Given the description of an element on the screen output the (x, y) to click on. 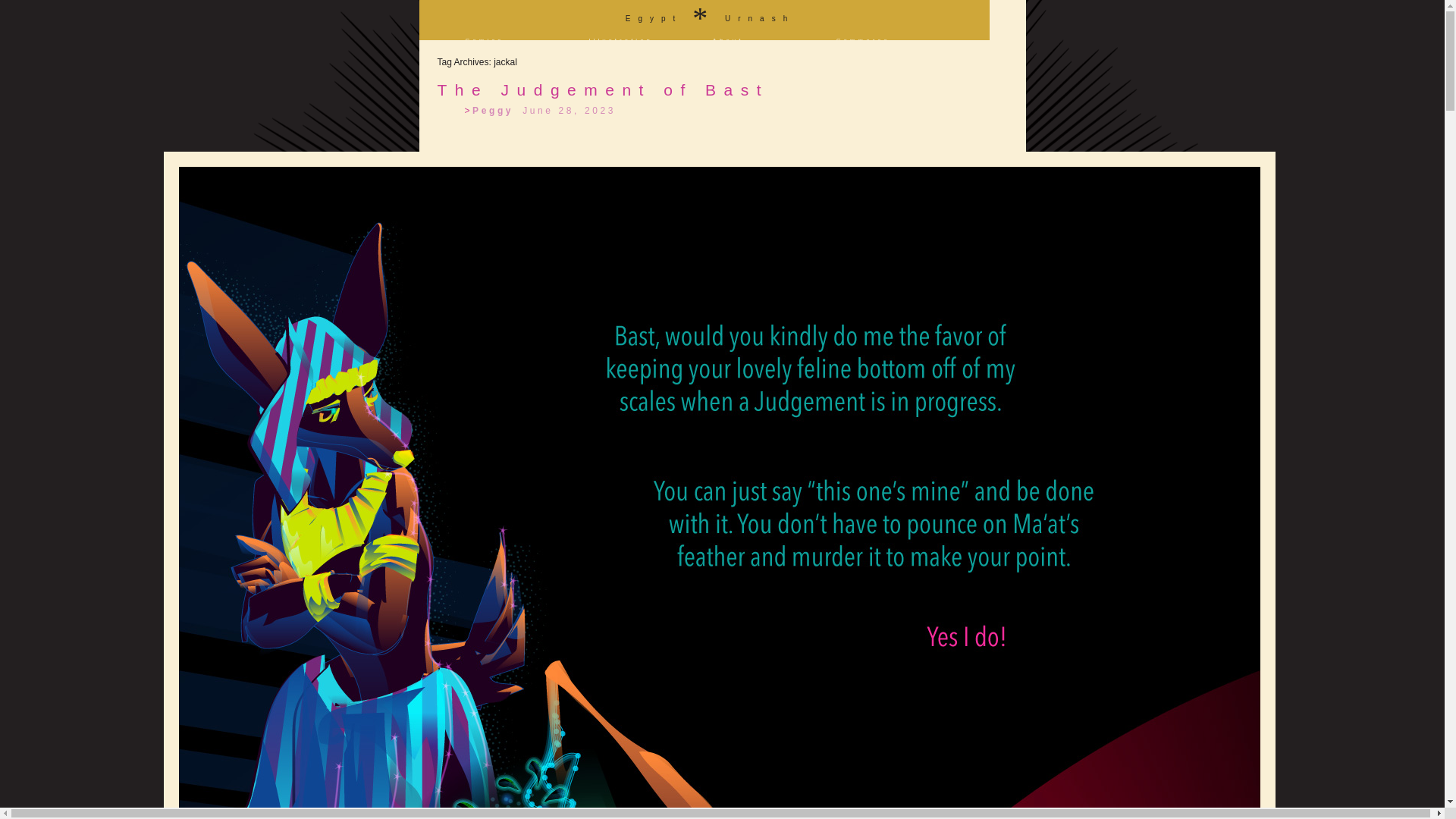
About (728, 40)
Permalink to The Judgement of Bast (602, 89)
Illustration (620, 40)
The Judgement of Bast (602, 89)
Commerce (862, 40)
Comics (484, 40)
